Given the description of an element on the screen output the (x, y) to click on. 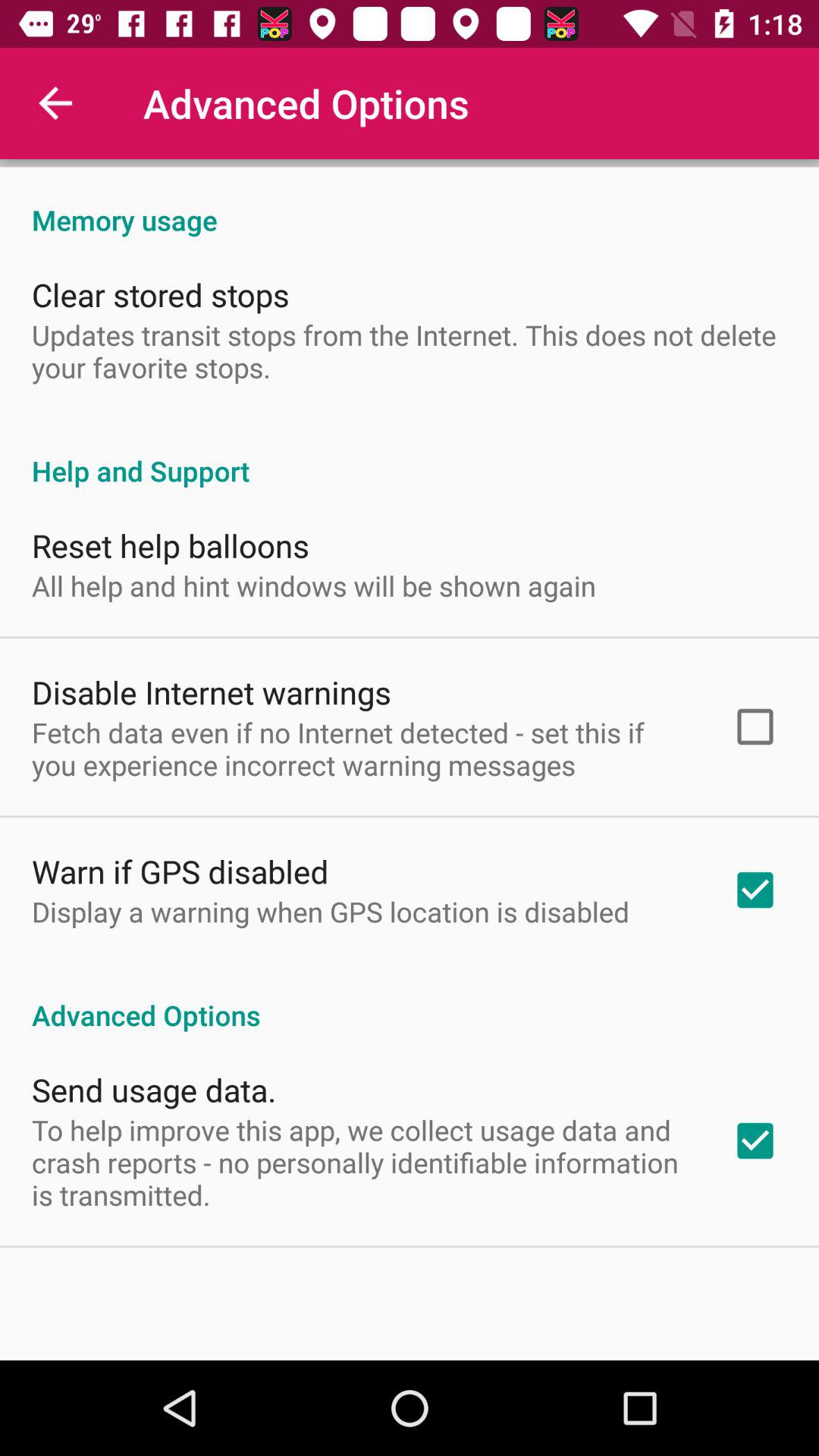
select the icon below the send usage data. icon (361, 1162)
